Given the description of an element on the screen output the (x, y) to click on. 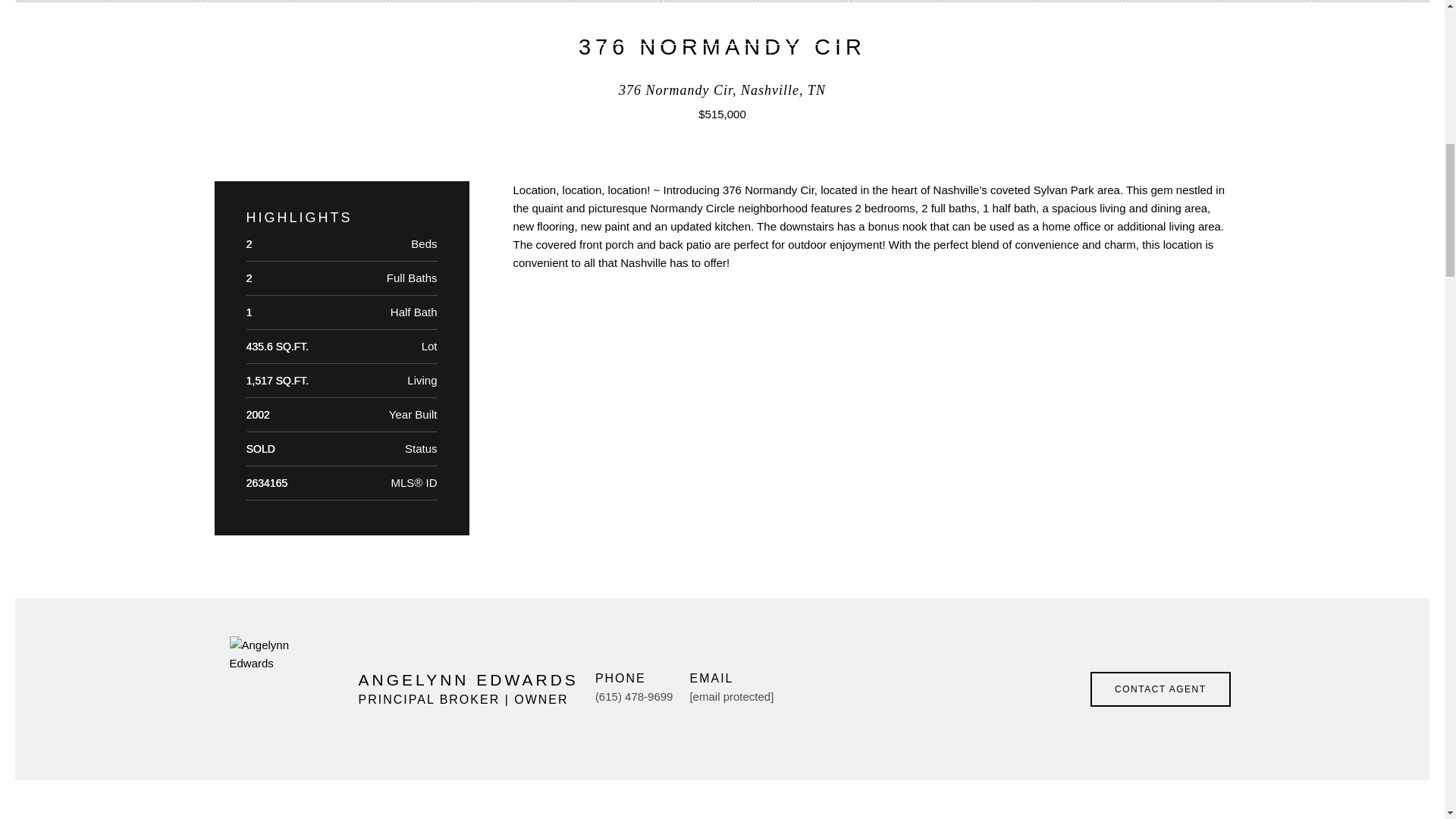
SHARE PROPERTY (586, 312)
CONTACT AGENT (1160, 688)
